Given the description of an element on the screen output the (x, y) to click on. 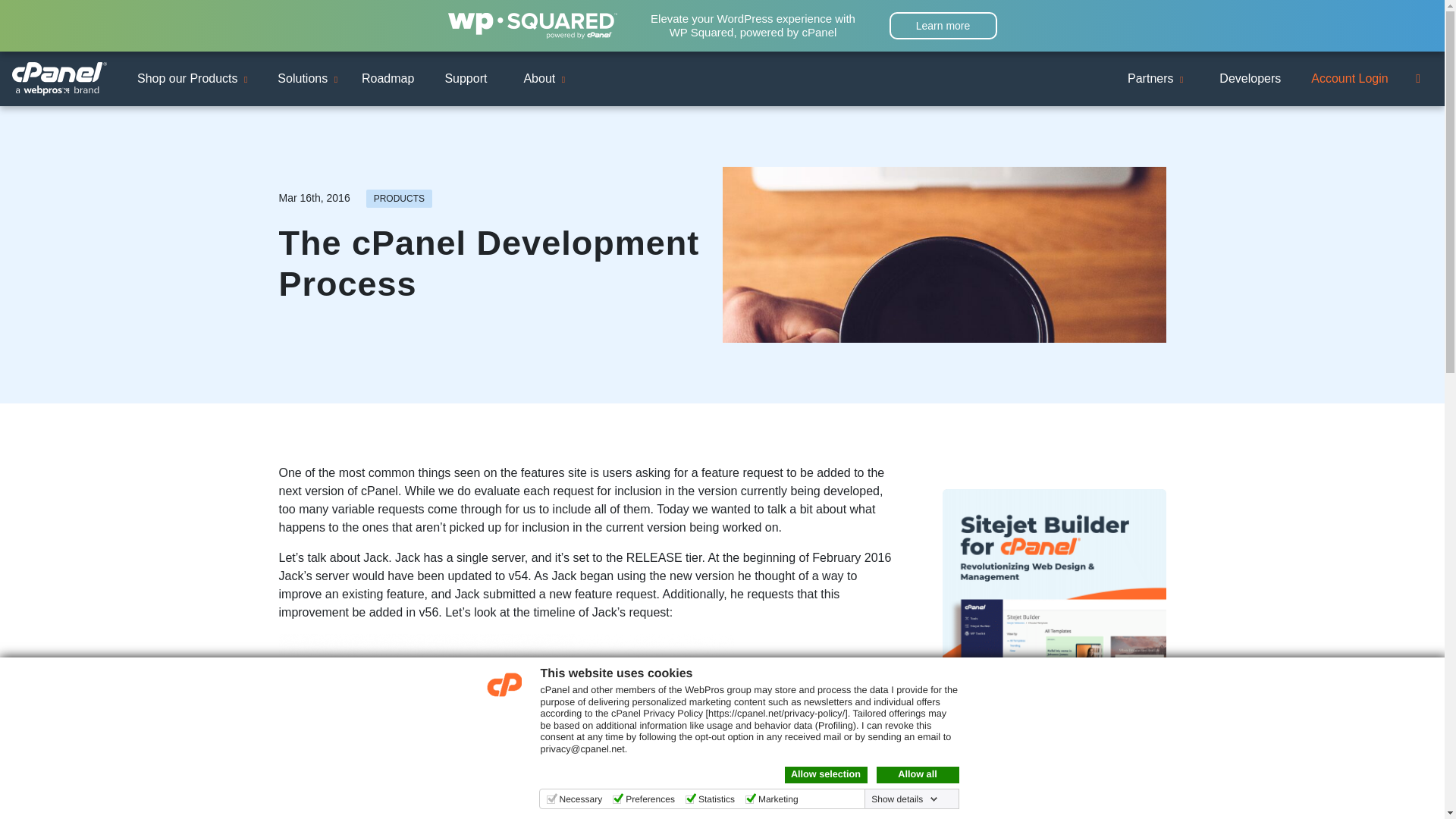
Learn more (941, 25)
Show details (903, 799)
Allow selection (825, 774)
Allow all (917, 774)
